Given the description of an element on the screen output the (x, y) to click on. 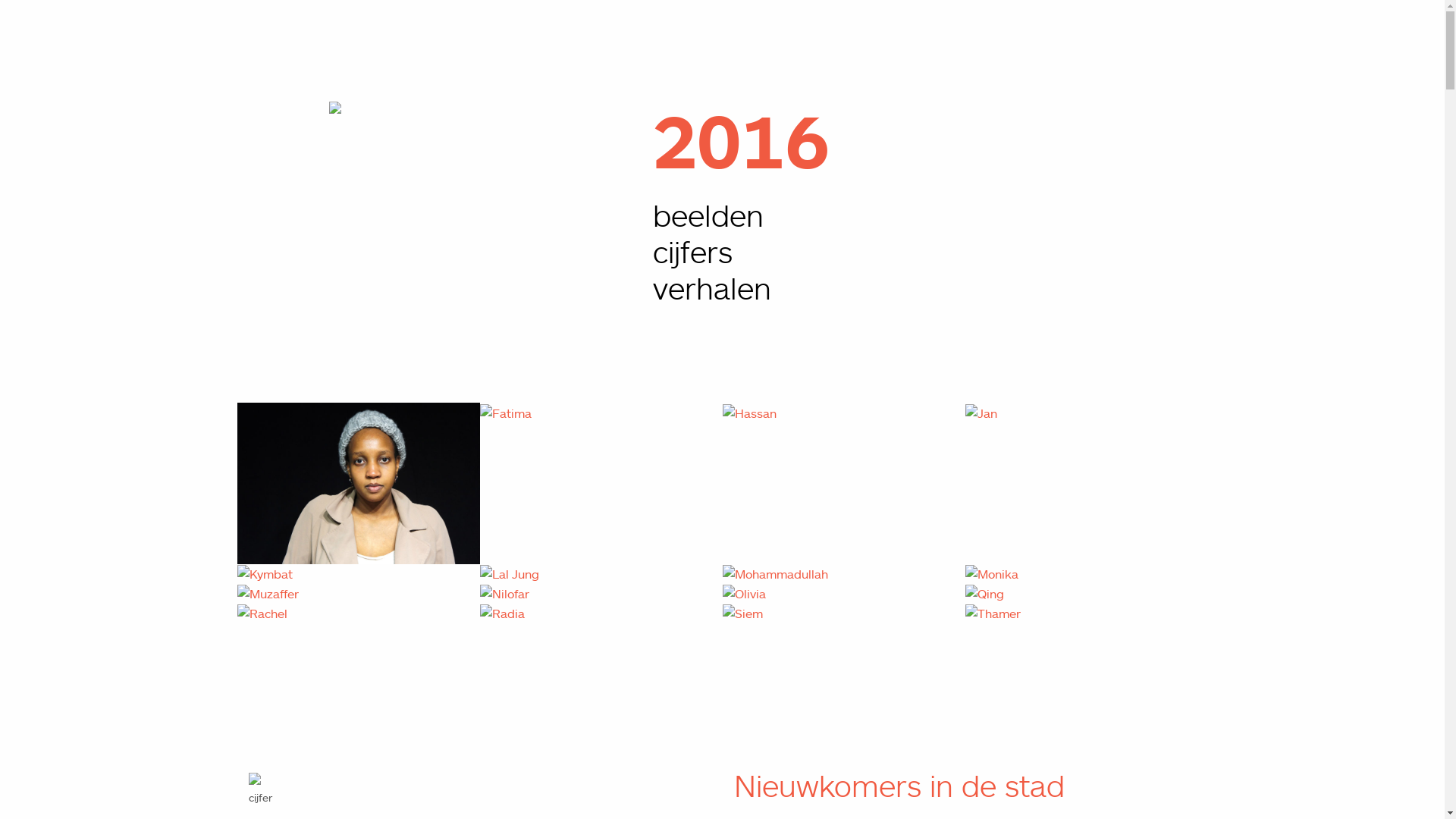
Hassan Element type: hover (748, 413)
Siem Element type: hover (741, 613)
Rachel Element type: hover (261, 613)
Muzaffer Element type: hover (267, 593)
Aissatou Element type: hover (357, 482)
Radia Element type: hover (501, 613)
Fatima Element type: hover (504, 413)
Olivia Element type: hover (743, 593)
Mohammadullah Element type: hover (774, 573)
Nilofar Element type: hover (503, 593)
Qing Element type: hover (983, 593)
Kymbat Element type: hover (263, 573)
Thamer Element type: hover (991, 613)
Monika Element type: hover (990, 573)
Lal Jung Element type: hover (508, 573)
Jan Element type: hover (980, 413)
